Given the description of an element on the screen output the (x, y) to click on. 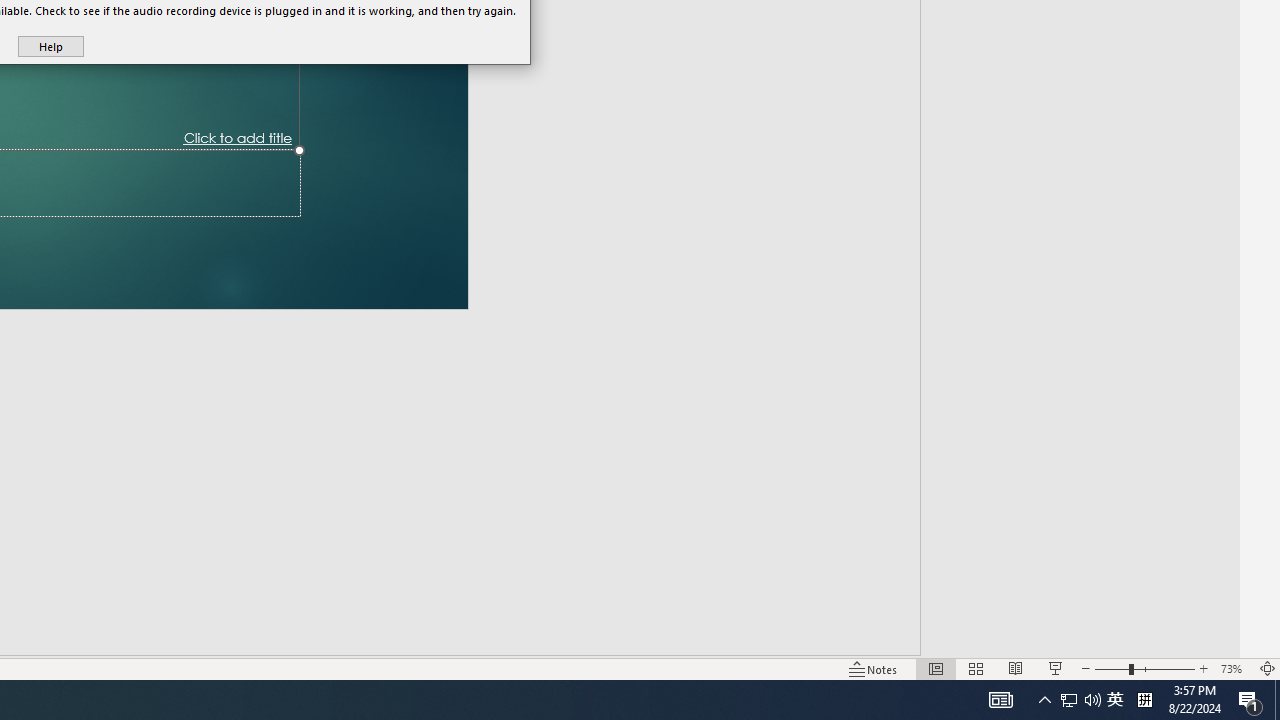
Tray Input Indicator - Chinese (Simplified, China) (1069, 699)
Show desktop (1144, 699)
Q2790: 100% (1277, 699)
Reading View (1092, 699)
Zoom Out (1015, 668)
Notes  (1111, 668)
Action Center, 1 new notification (874, 668)
Notification Chevron (1250, 699)
Zoom 73% (1115, 699)
Zoom to Fit  (1044, 699)
AutomationID: 4105 (1234, 668)
